Given the description of an element on the screen output the (x, y) to click on. 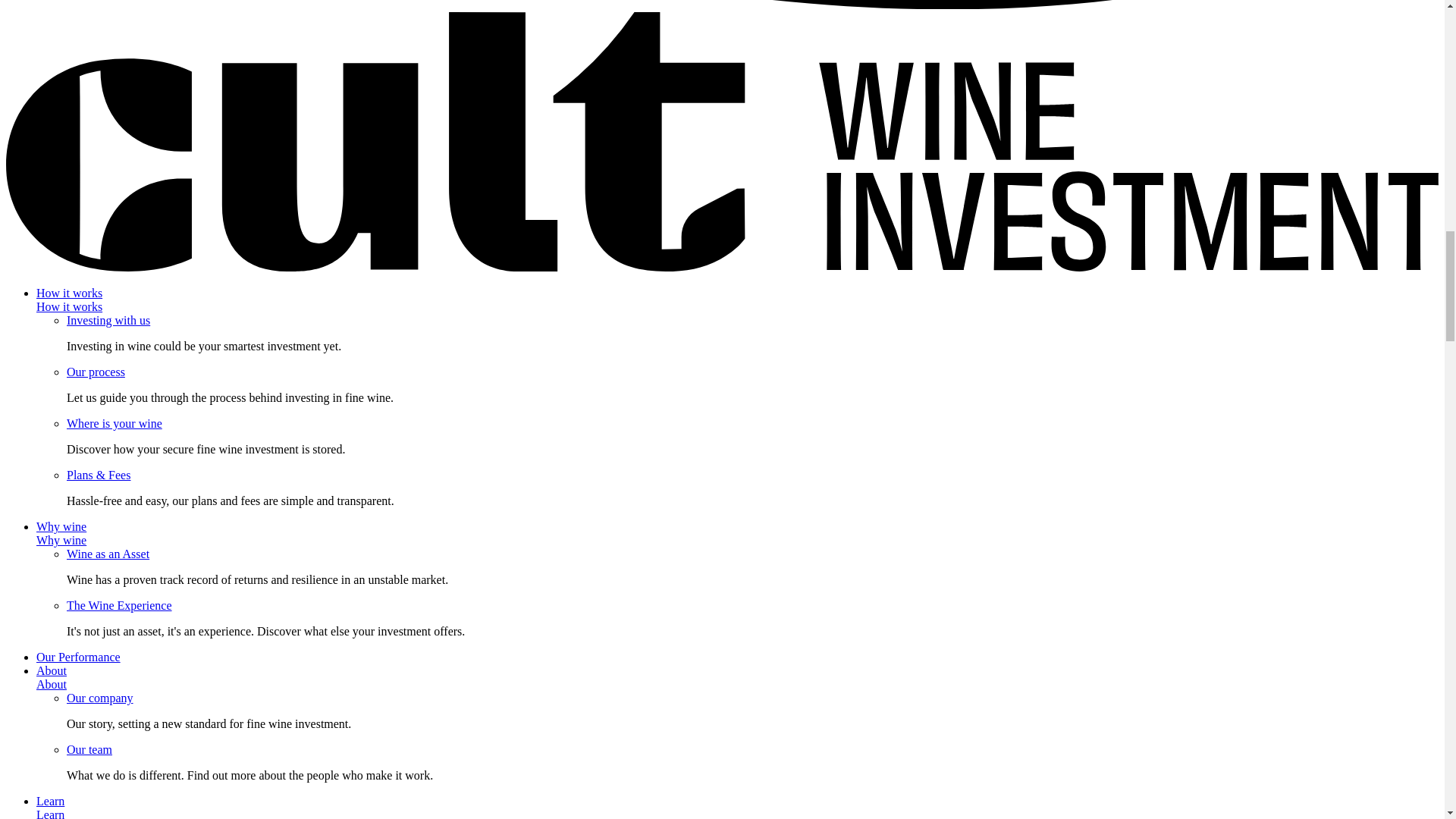
Wine as an Asset (107, 553)
Investing with us (107, 319)
Our team (89, 748)
Our Performance (78, 656)
Why wine (60, 540)
About (51, 684)
Where is your wine (113, 422)
The Wine Experience (118, 604)
Our process (95, 371)
Our company (99, 697)
